Given the description of an element on the screen output the (x, y) to click on. 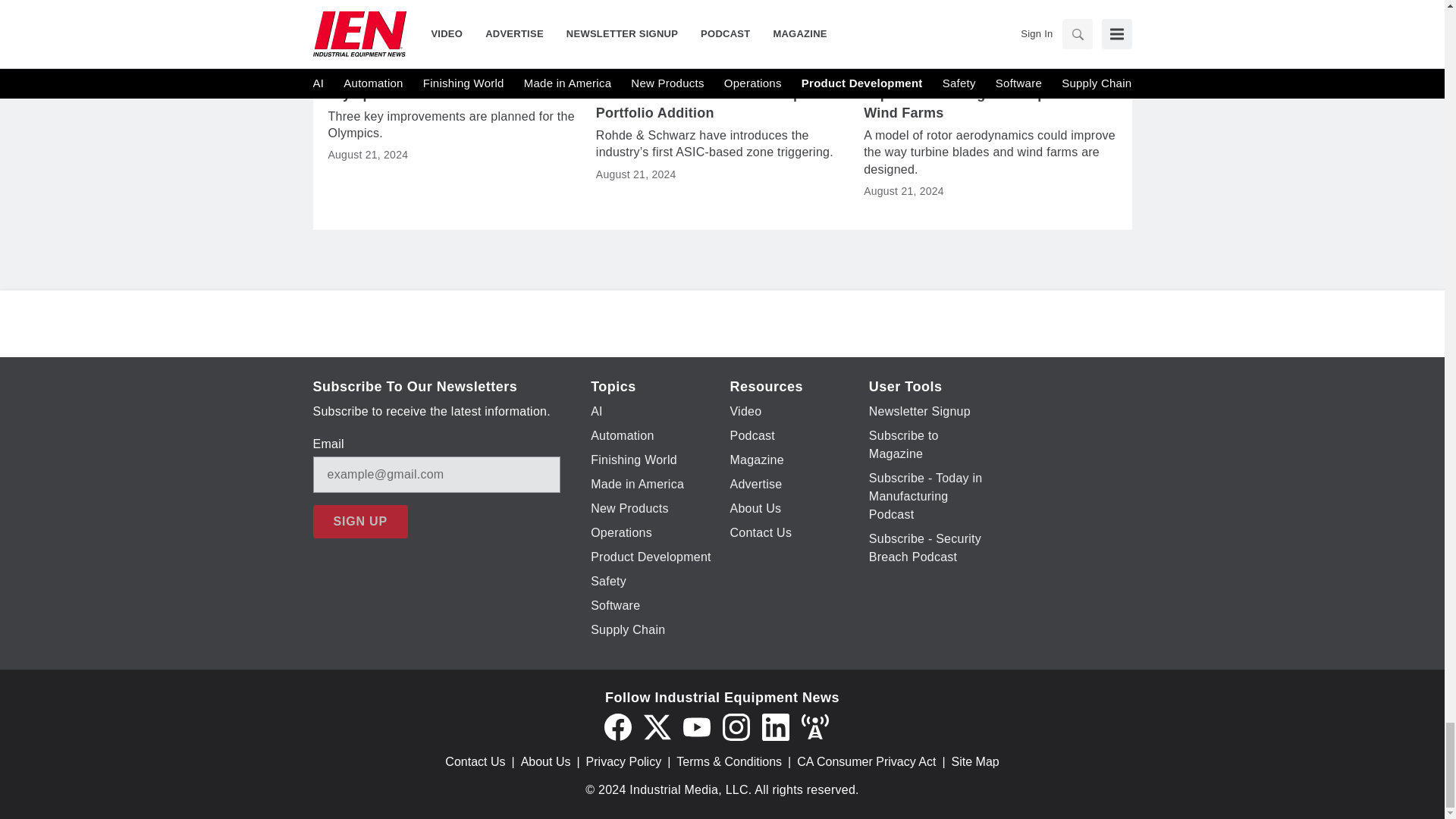
Facebook icon (617, 727)
Twitter X icon (656, 727)
Instagram icon (735, 727)
YouTube icon (696, 727)
LinkedIn icon (775, 727)
